Given the description of an element on the screen output the (x, y) to click on. 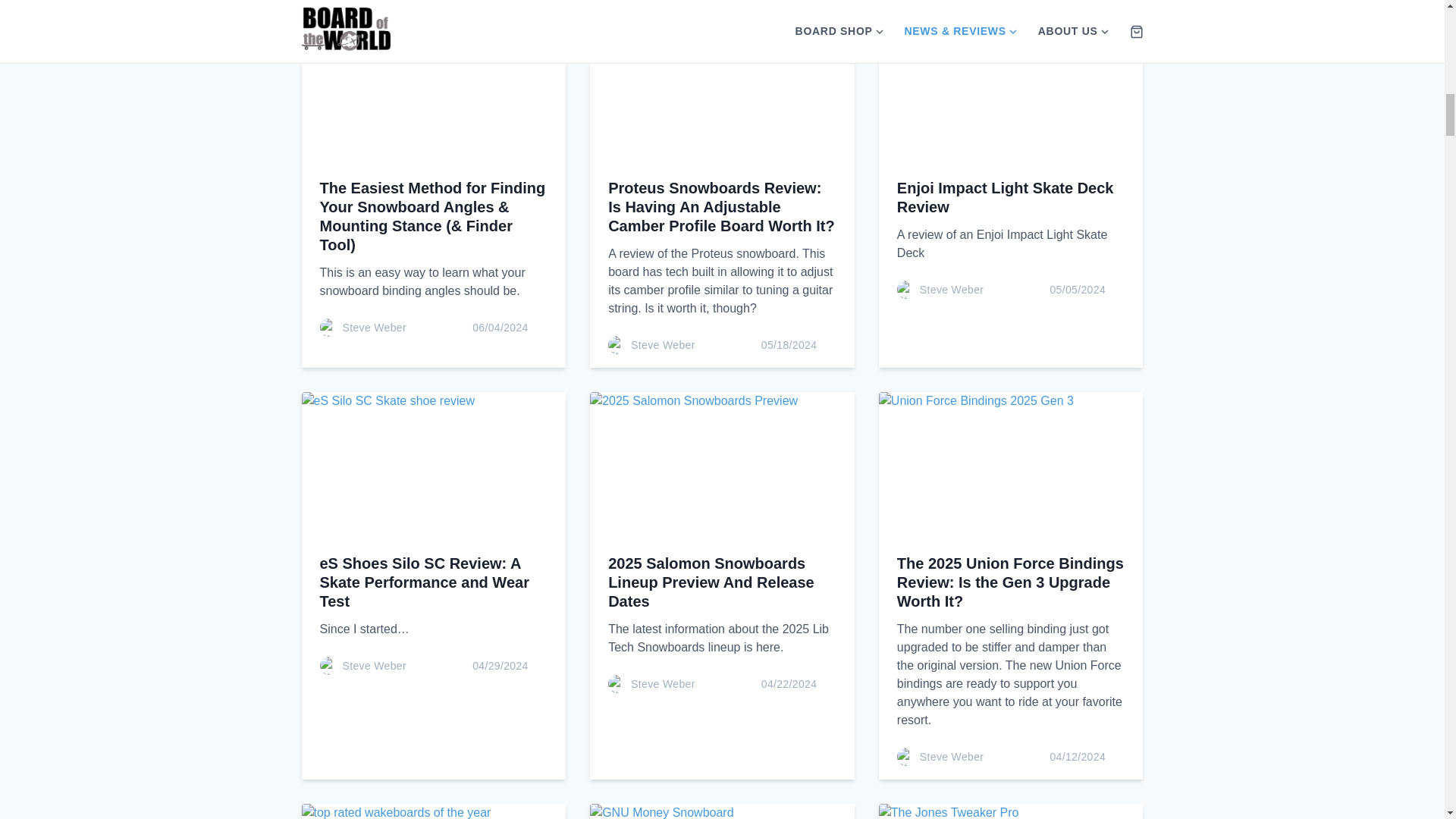
Enjoi Impact Light Skate Deck Review 17 (1010, 90)
The Top Rated Wakeboards with Detailed Reviews 22 (433, 811)
2025 Salomon Snowboards Lineup Preview And Release Dates 20 (721, 466)
